Given the description of an element on the screen output the (x, y) to click on. 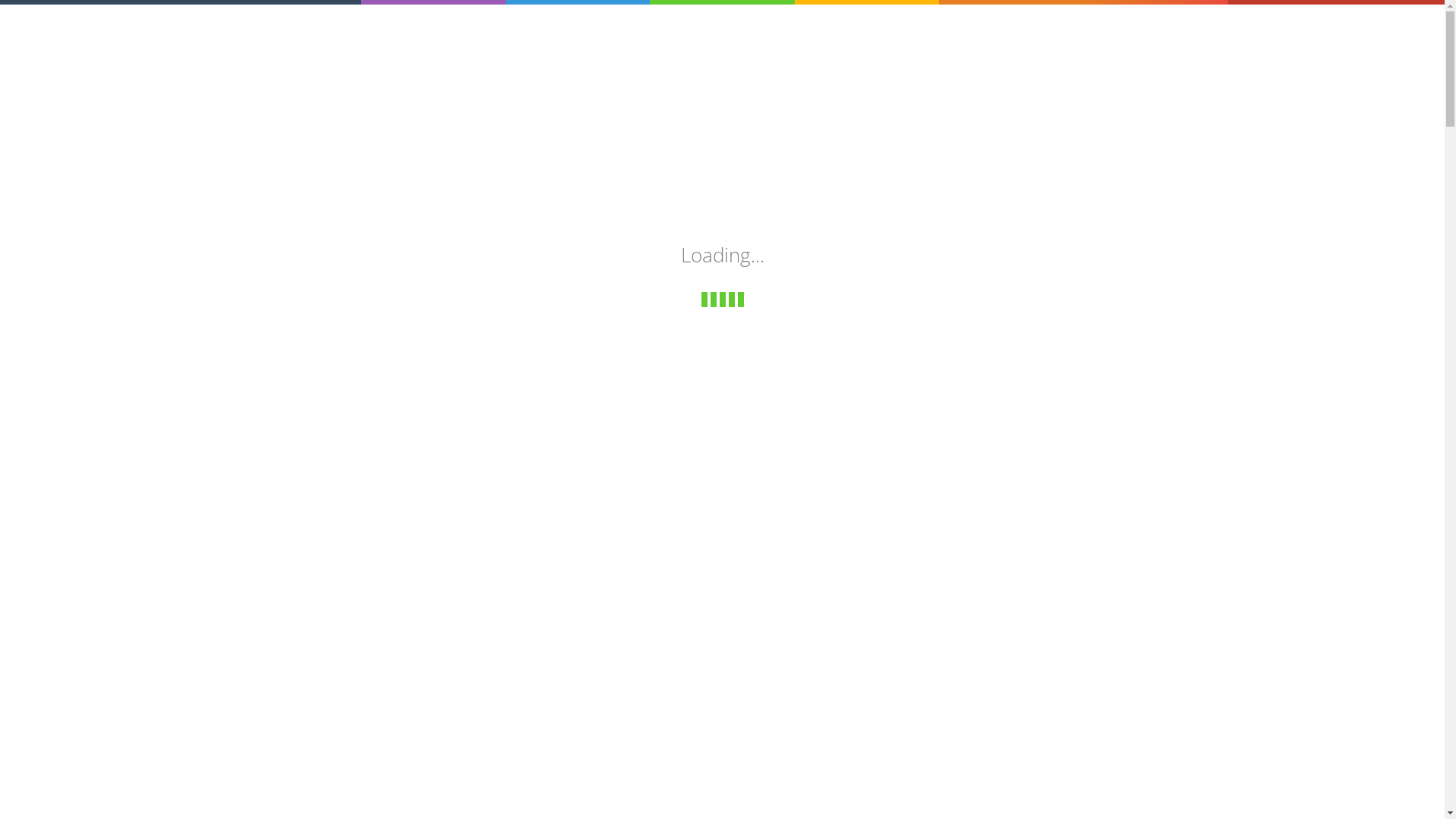
Detaljnije Element type: text (626, 590)
Detaljnije Element type: text (922, 590)
Blog Element type: text (959, 20)
Detaljnije Element type: text (330, 590)
  ZAHTJEV ZA OSIGURANJE IMOVINE Element type: text (421, 231)
Trziste.ba Element type: hover (383, 19)
Osiguranje vozila Element type: text (757, 20)
Kontakt Element type: text (1078, 20)
Pojmovi Element type: text (1014, 20)
  ZAHTJEV ZA OSIGURANJE VOZILA Element type: text (417, 189)
Tesla S P90D Element type: text (347, 415)
Osiguranje imovine Element type: text (875, 20)
Log in Element type: text (1138, 20)
